Given the description of an element on the screen output the (x, y) to click on. 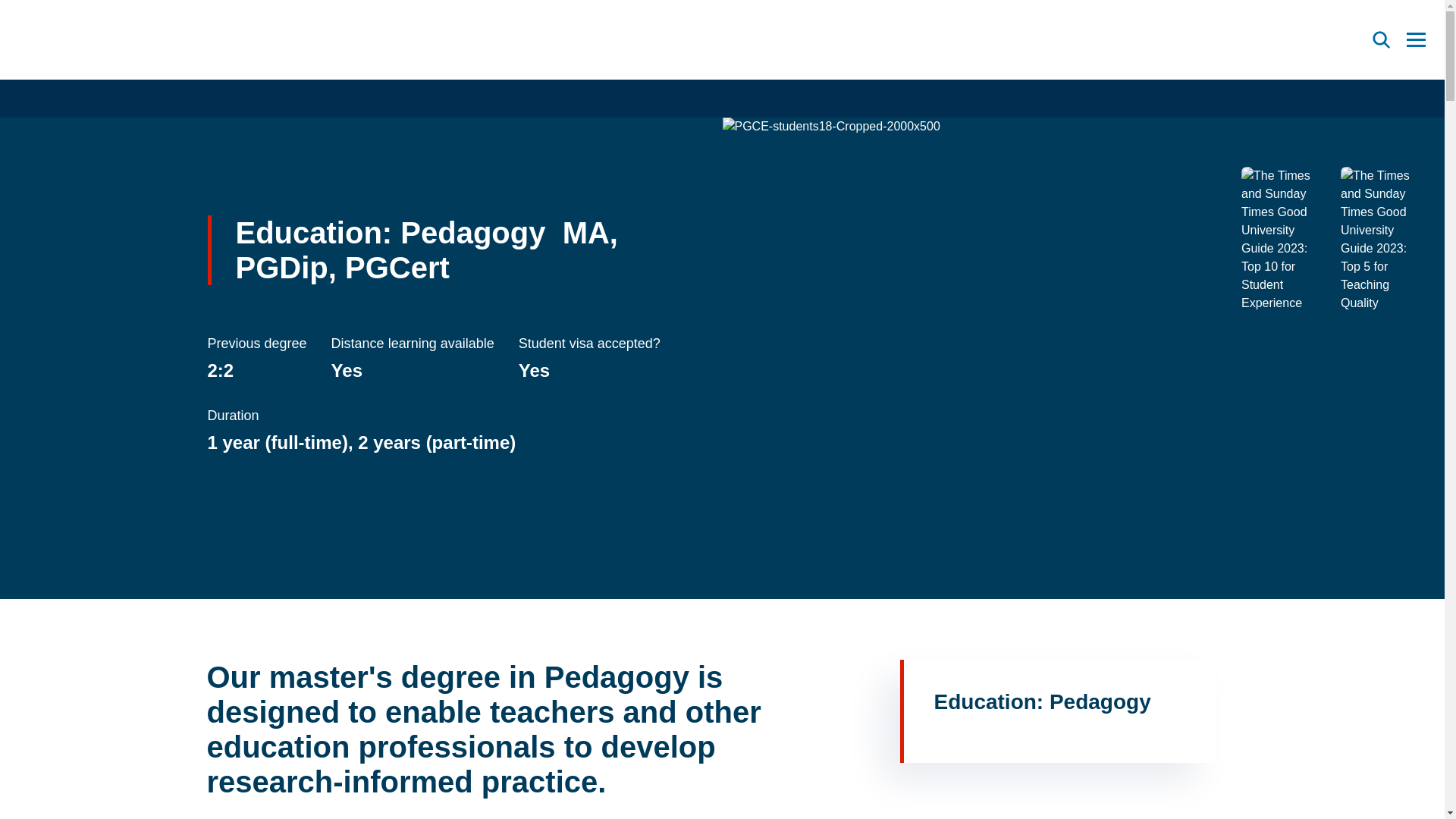
Search (1381, 39)
   Open menu (1416, 39)
Skip to main content (12, 9)
